Given the description of an element on the screen output the (x, y) to click on. 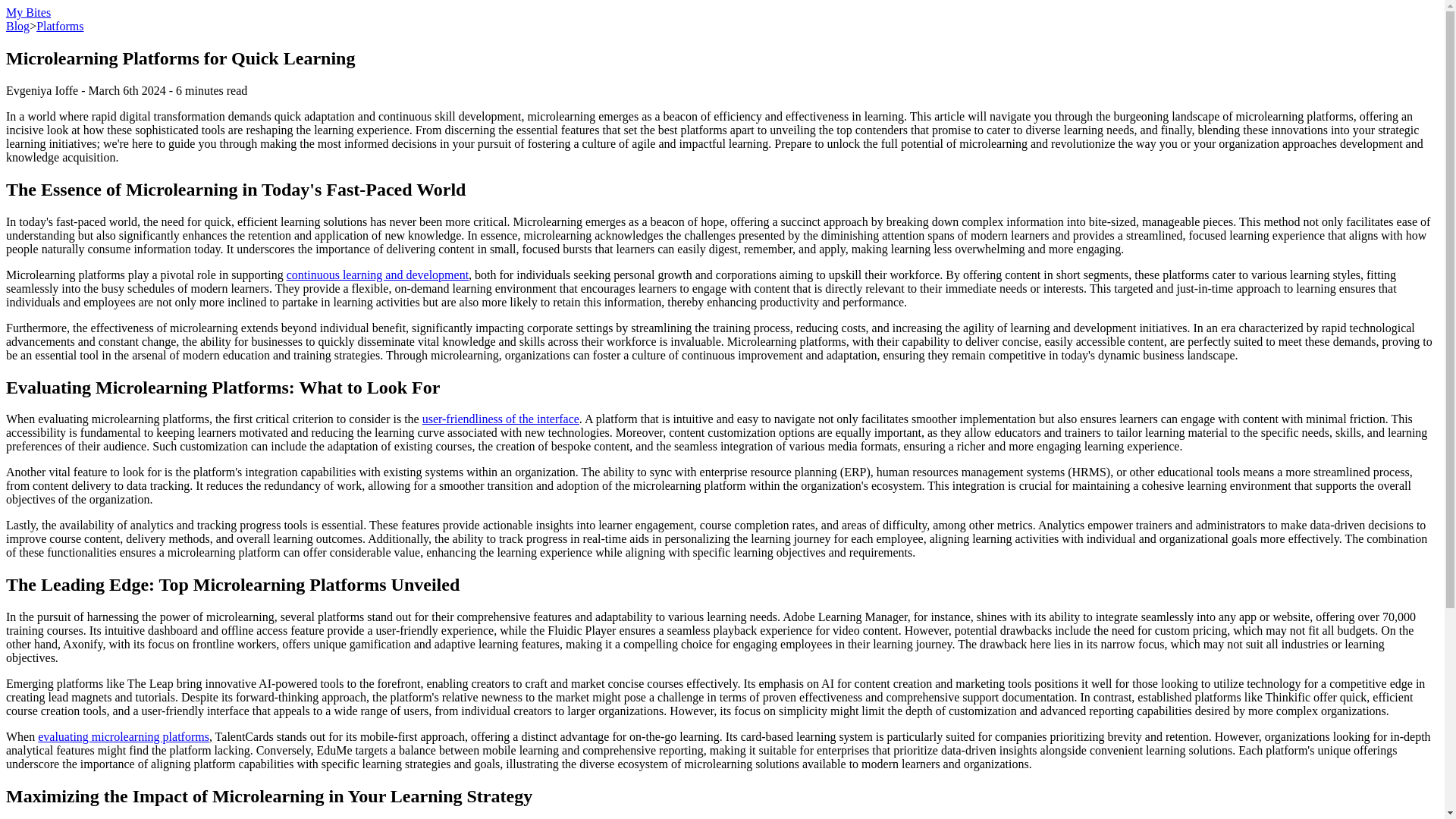
Platforms (59, 25)
continuous learning and development (377, 274)
user-friendliness of the interface (500, 418)
Blog (17, 25)
evaluating microlearning platforms (123, 736)
My Bites (27, 11)
